Given the description of an element on the screen output the (x, y) to click on. 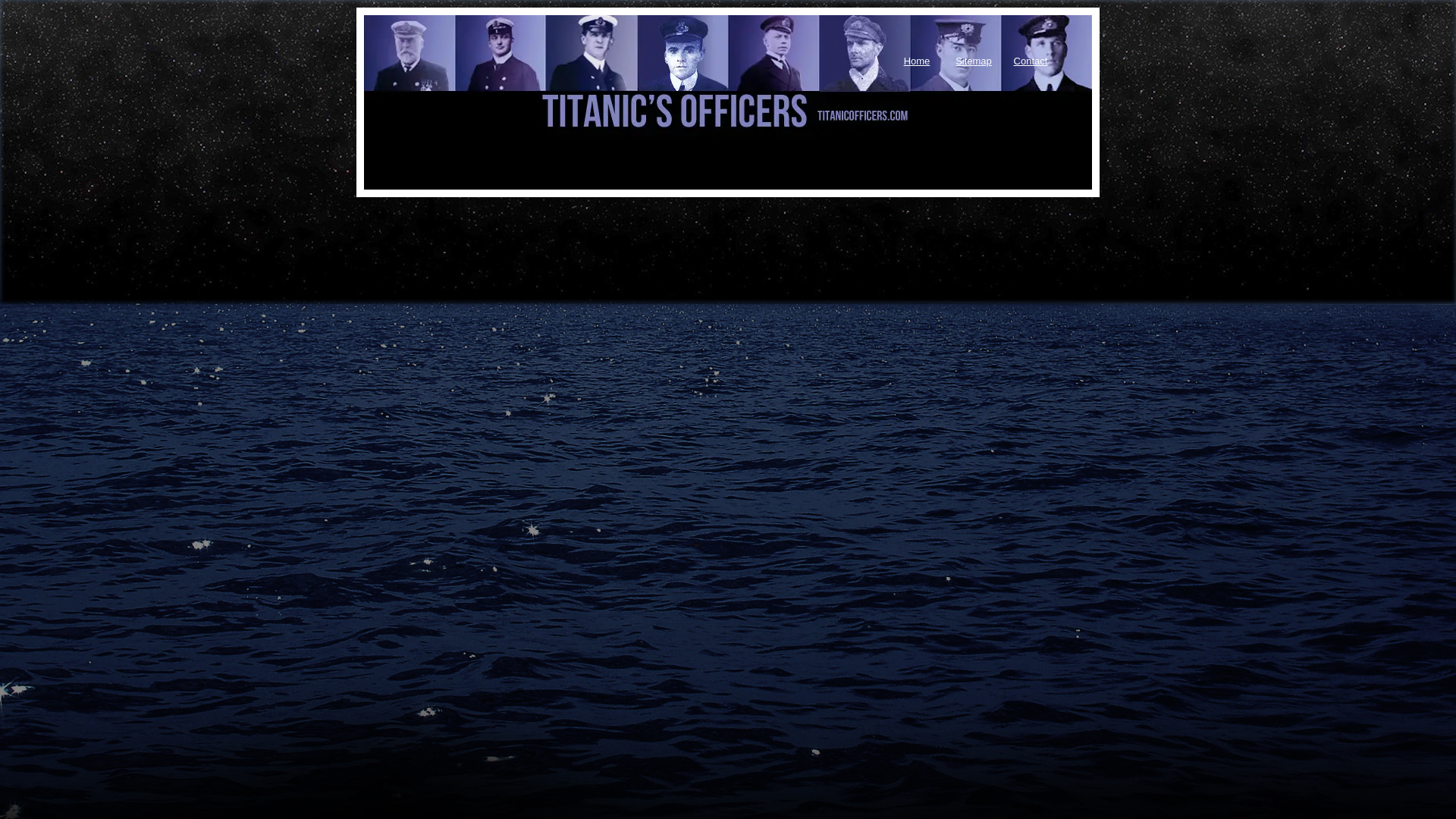
Sitemap (973, 56)
Contact (1030, 56)
Home (917, 56)
Titanic (440, 75)
